Given the description of an element on the screen output the (x, y) to click on. 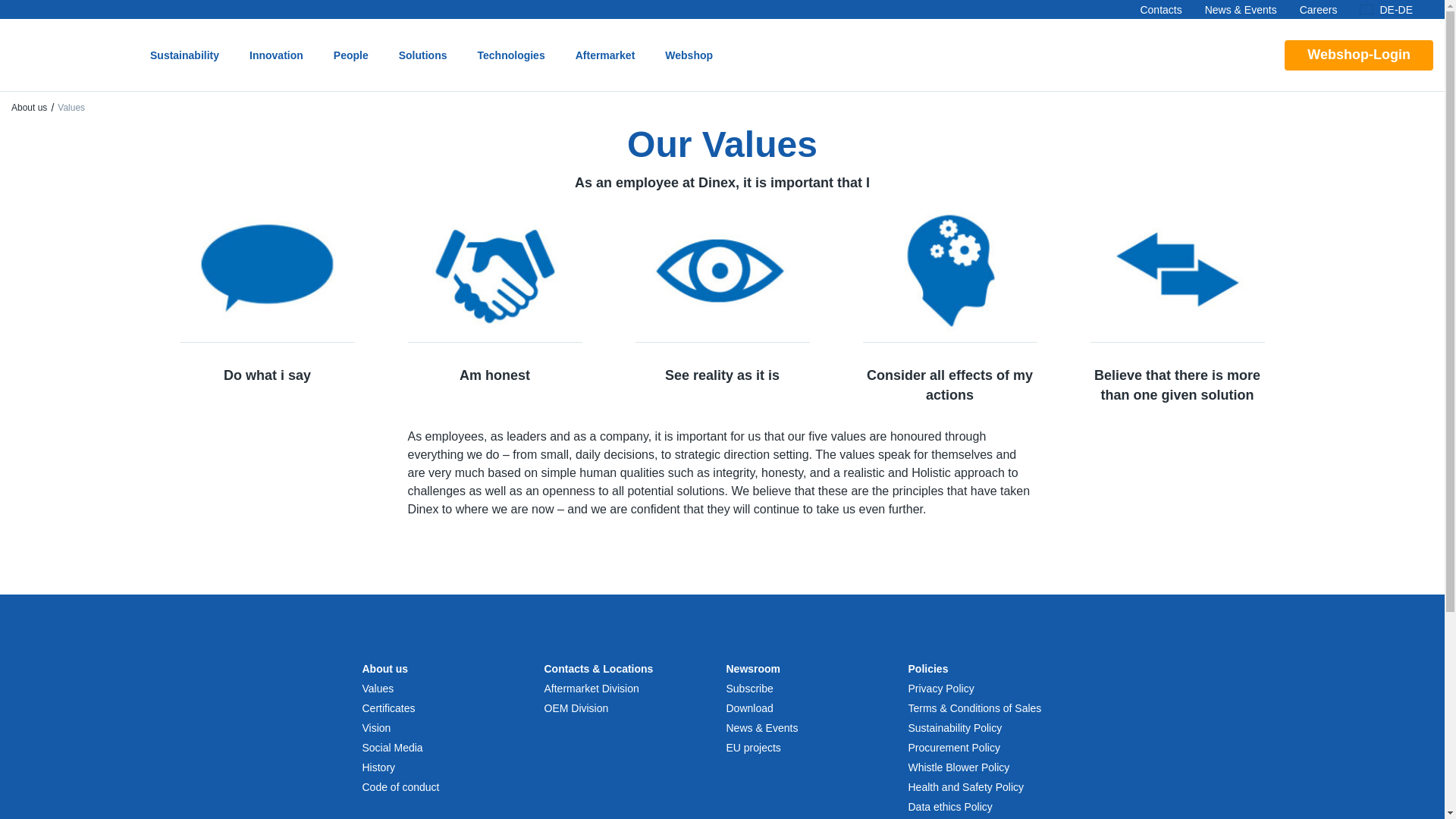
Webshop-Login (1358, 54)
Careers (1318, 9)
Sustainability (184, 54)
Contacts (1160, 9)
Technologies (510, 54)
